Given the description of an element on the screen output the (x, y) to click on. 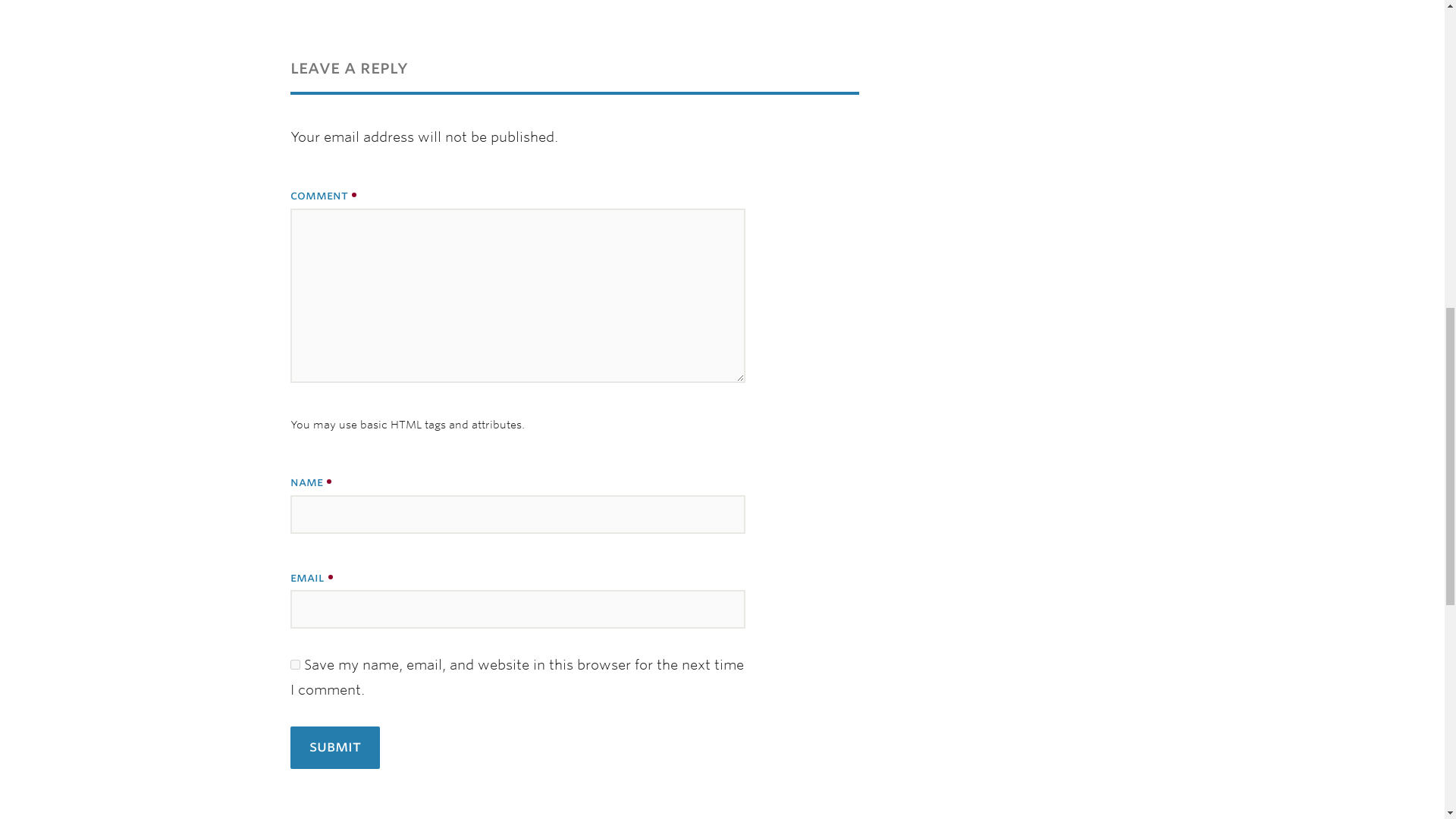
yes (294, 664)
submit (333, 747)
